Given the description of an element on the screen output the (x, y) to click on. 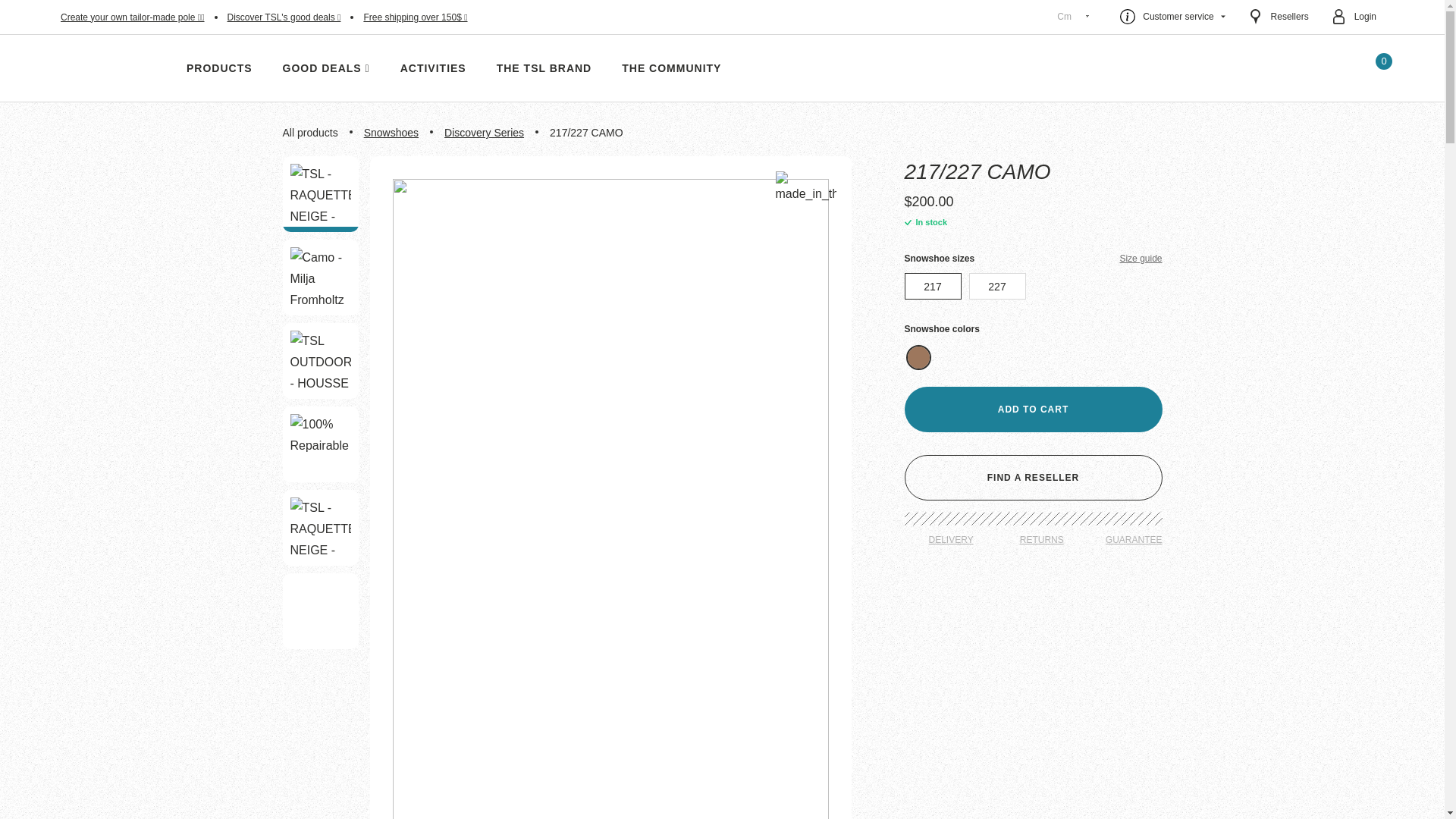
217 CAMO (319, 527)
Add to cart (1032, 409)
Search (1331, 67)
Login (1353, 16)
227 CAMO (319, 193)
Homepage (108, 68)
Resellers (1277, 16)
